Given the description of an element on the screen output the (x, y) to click on. 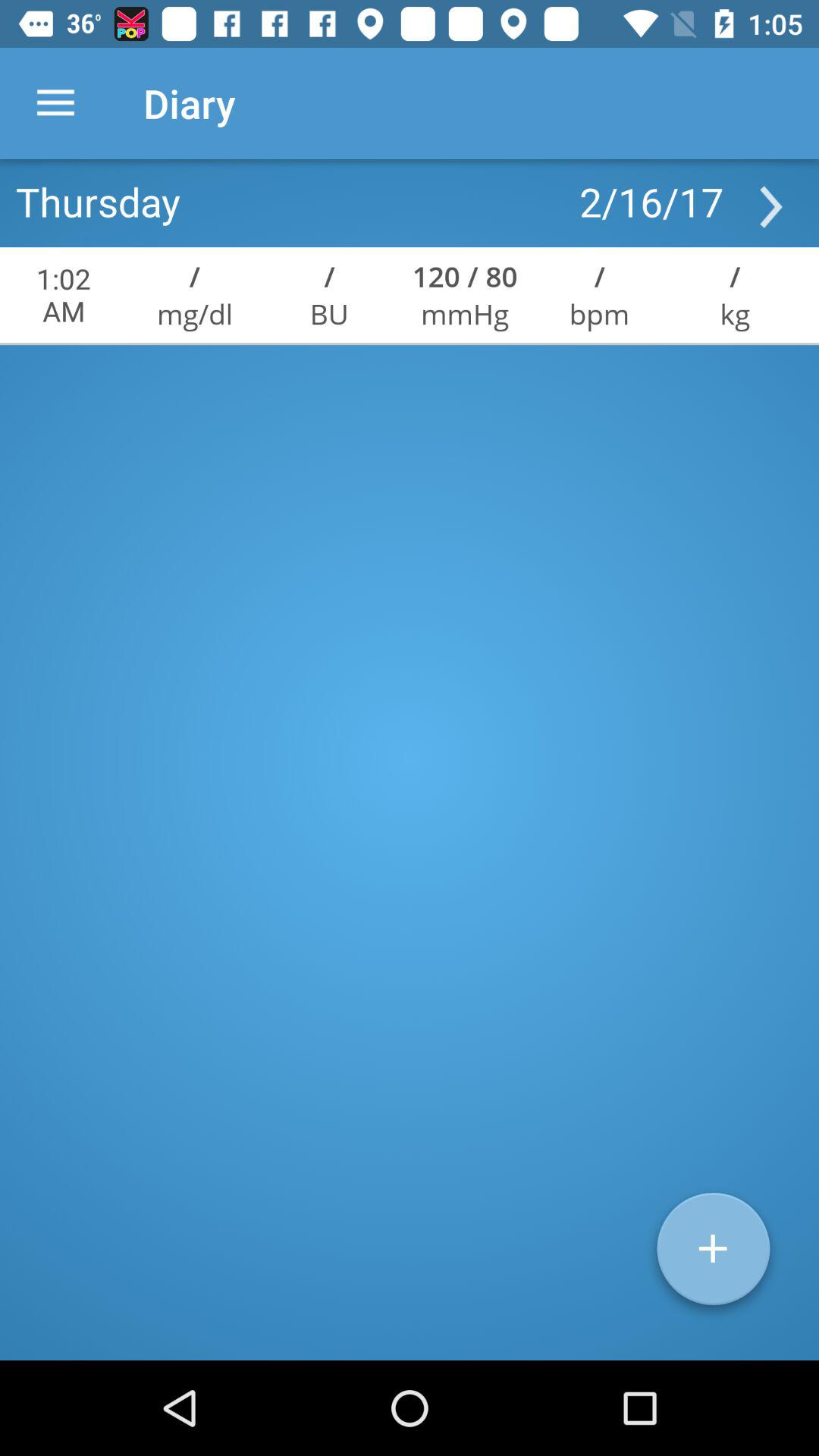
turn on item to the left of bpm icon (464, 276)
